Given the description of an element on the screen output the (x, y) to click on. 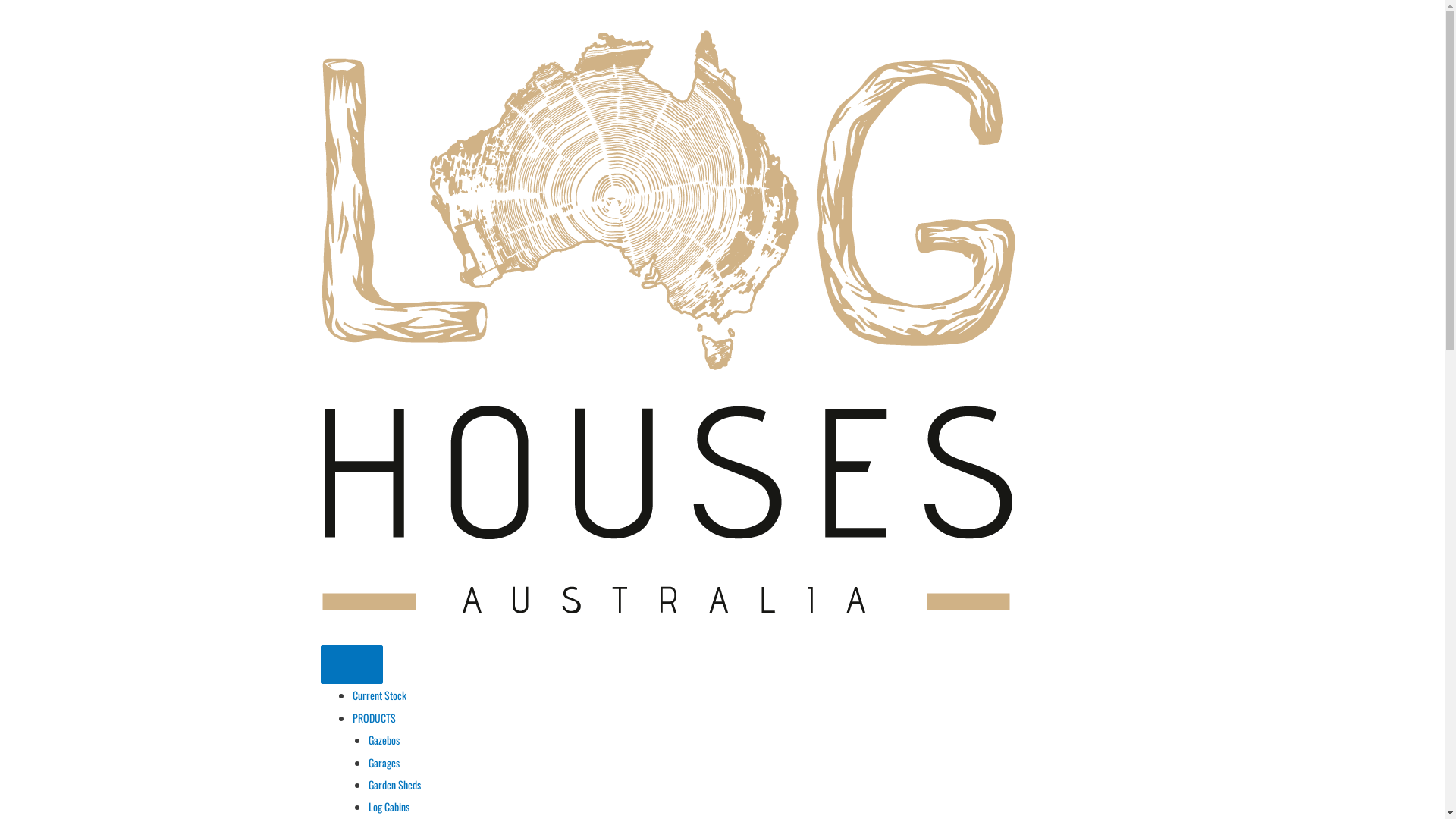
Garages Element type: text (383, 762)
Garden Sheds Element type: text (394, 784)
PRODUCTS Element type: text (373, 717)
LOG-Houses-Logo Element type: hover (668, 322)
Log Cabins Element type: text (388, 806)
Gazebos Element type: text (383, 739)
Current Stock Element type: text (378, 694)
